Given the description of an element on the screen output the (x, y) to click on. 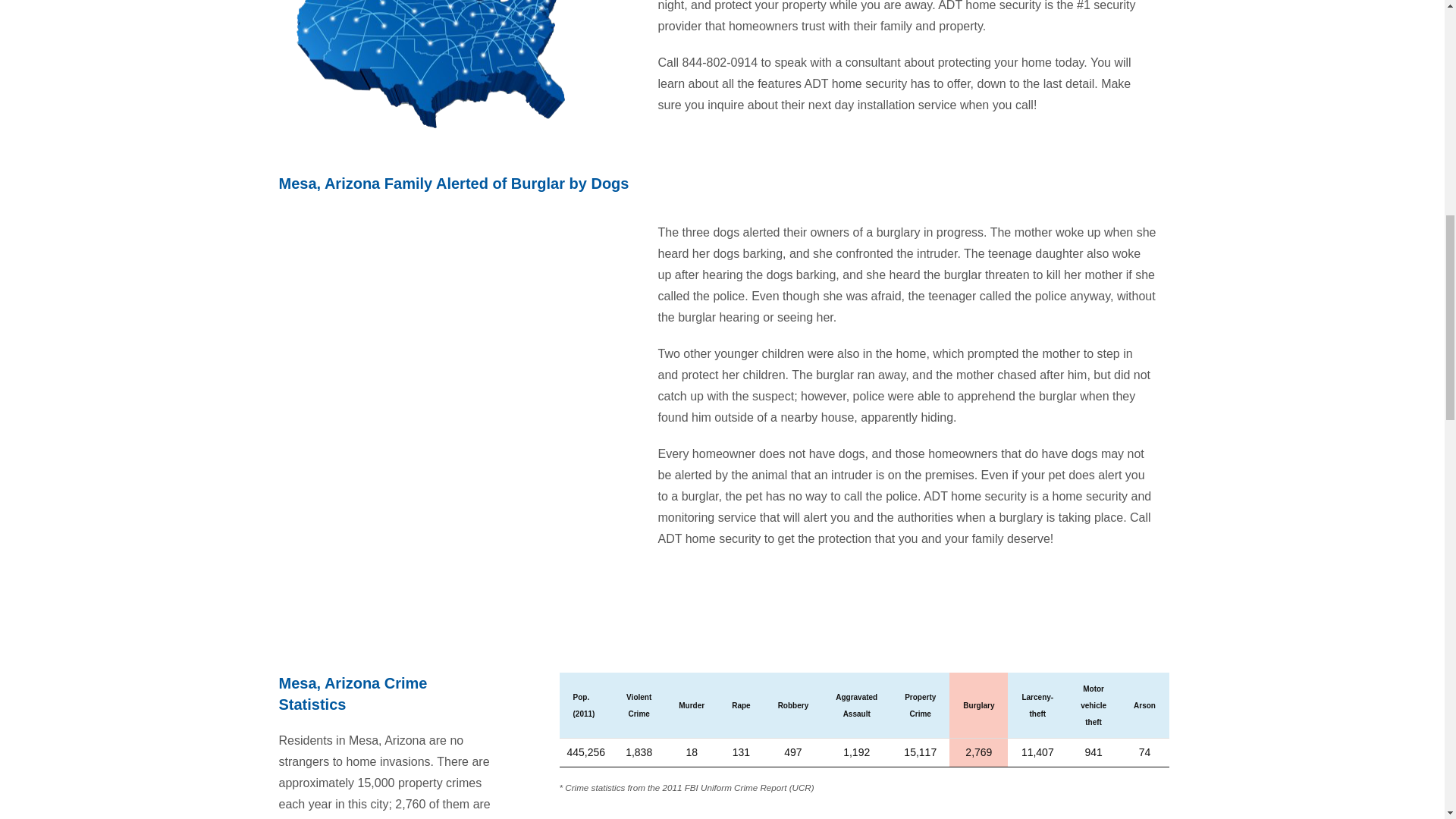
844-802-0914 (720, 62)
